Given the description of an element on the screen output the (x, y) to click on. 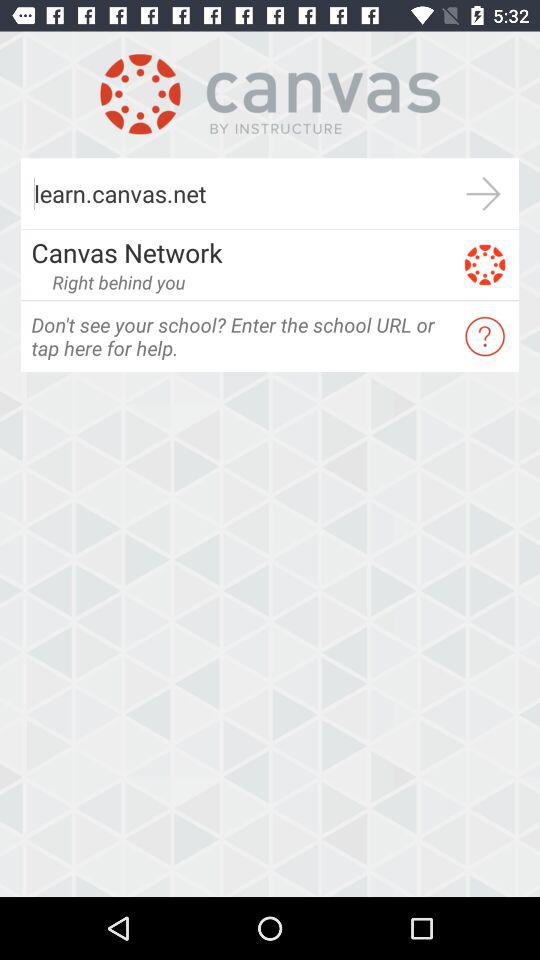
turn on the learn.canvas.net item (234, 193)
